Given the description of an element on the screen output the (x, y) to click on. 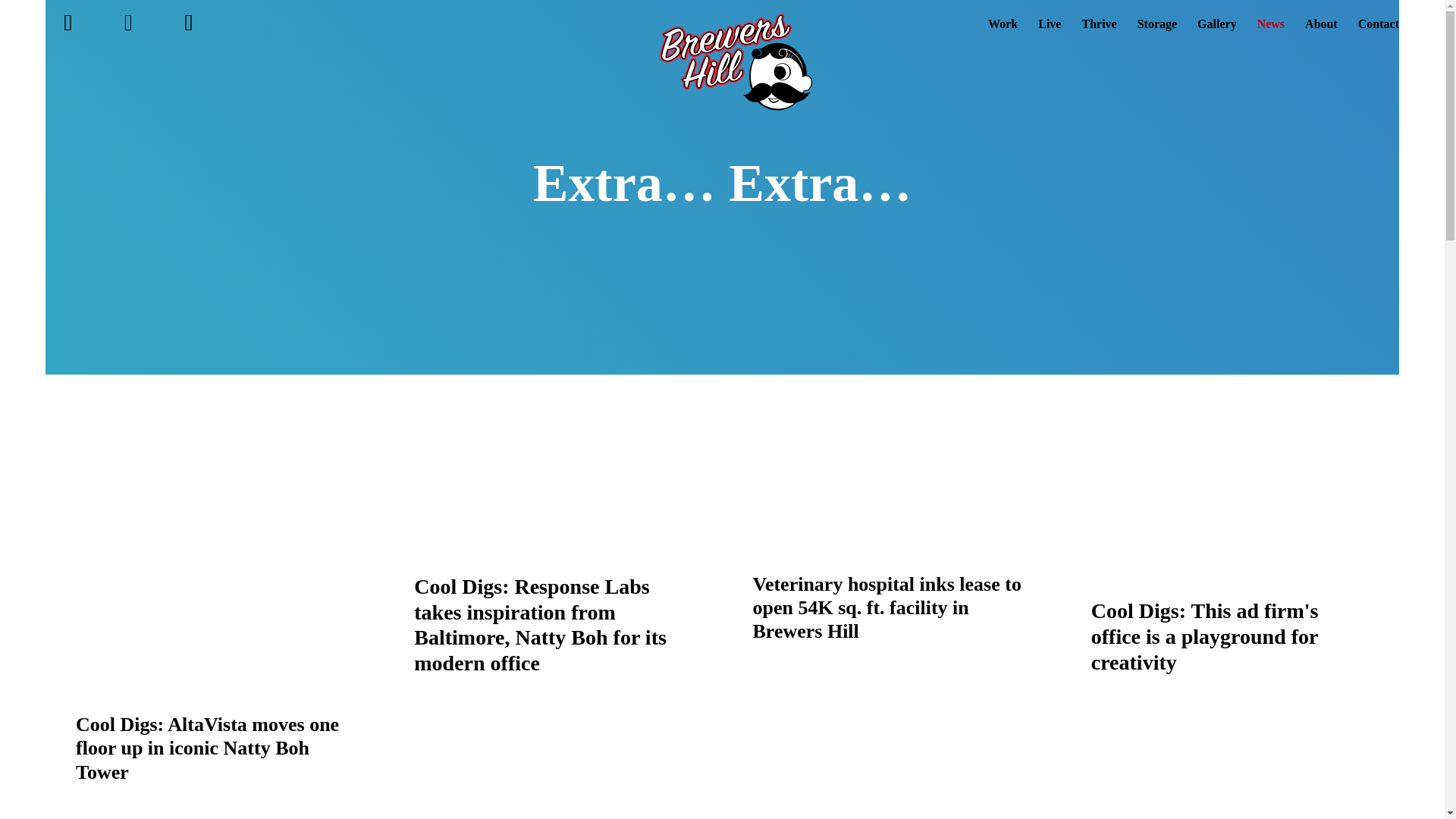
News (1270, 33)
Contact (1378, 33)
Thrive (1098, 33)
Work (1002, 33)
About (1321, 33)
Gallery (1216, 33)
Storage (1156, 33)
